Given the description of an element on the screen output the (x, y) to click on. 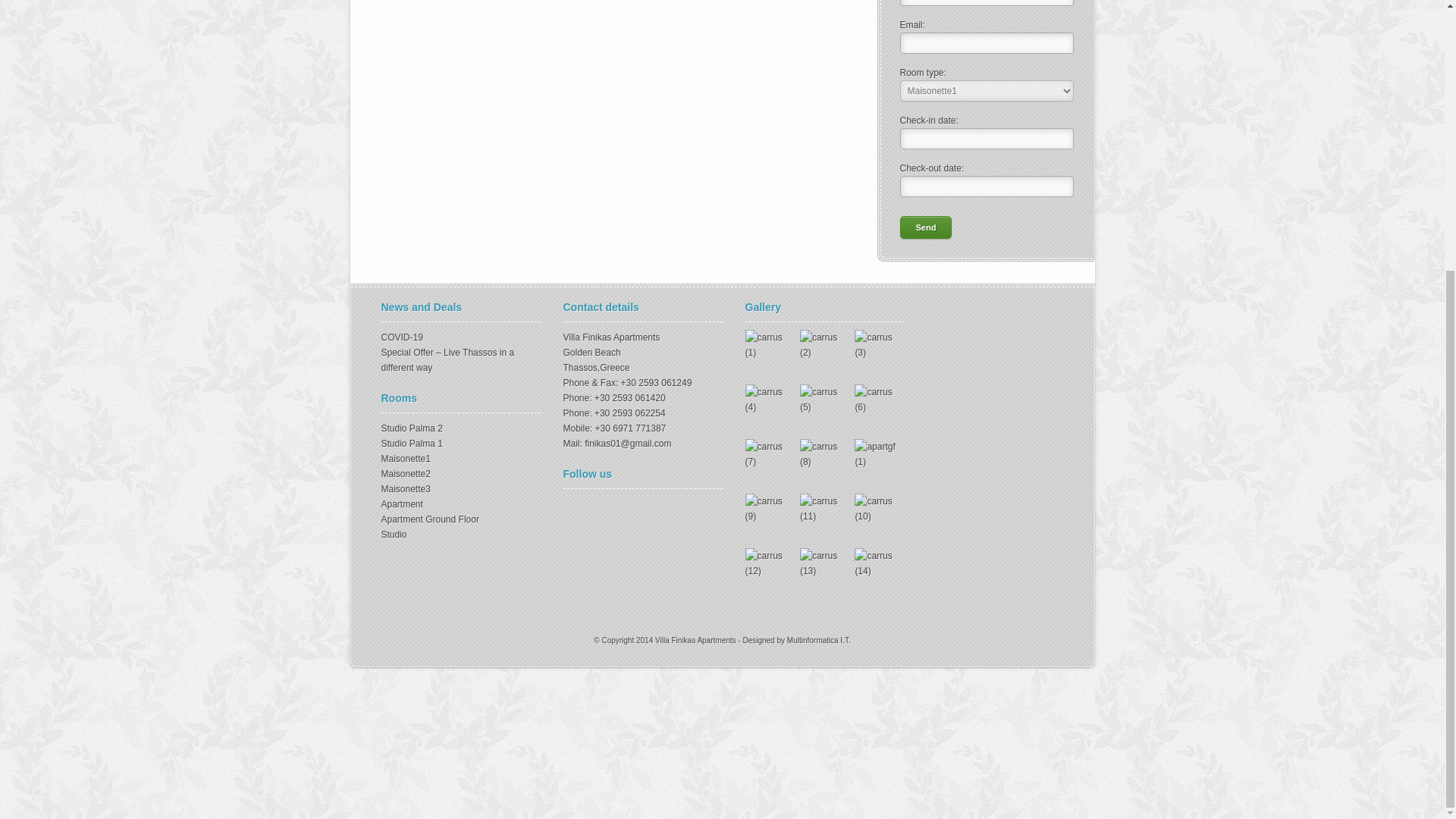
Send (925, 227)
